Given the description of an element on the screen output the (x, y) to click on. 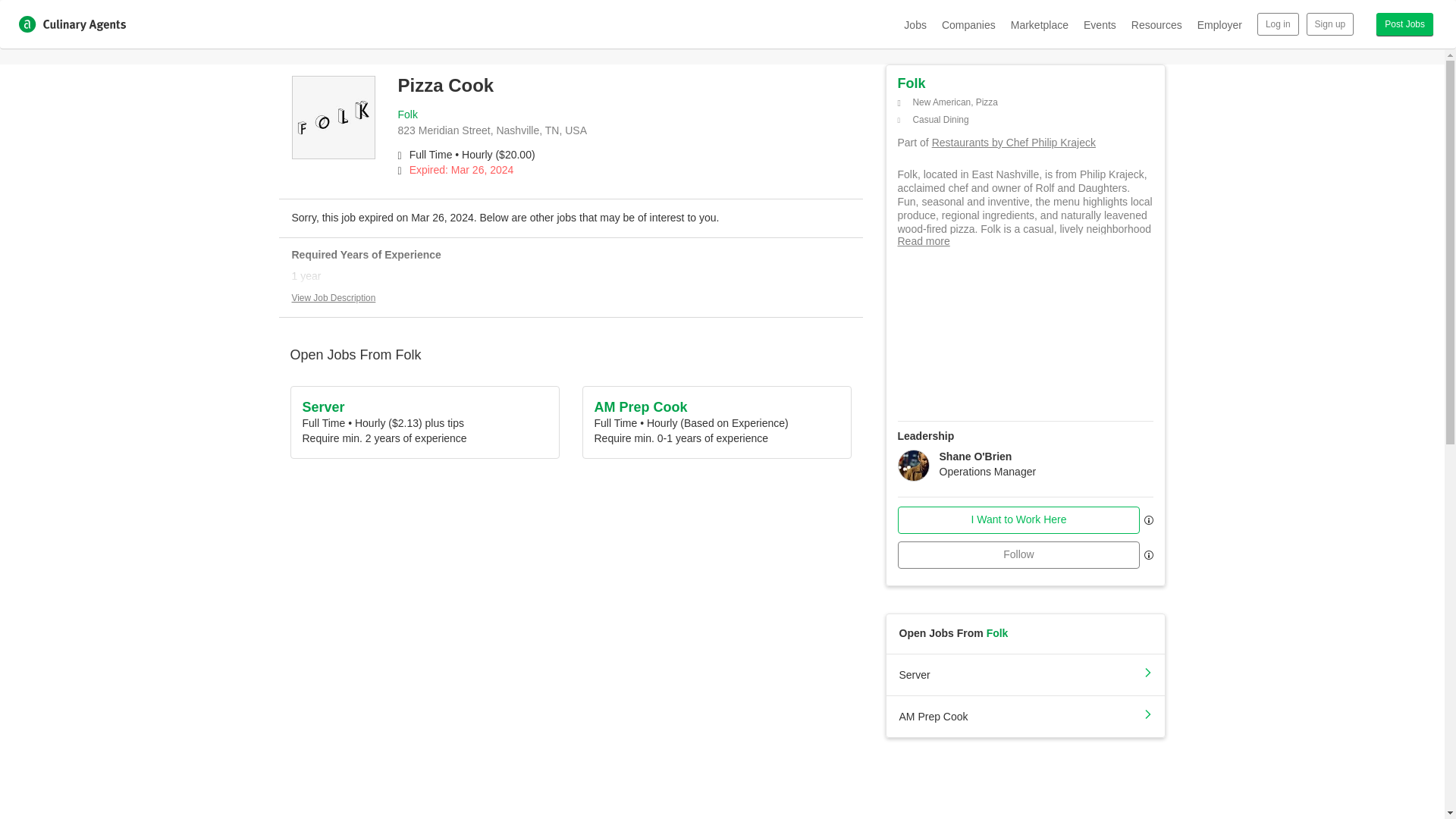
Resources (1156, 24)
Employer (1218, 24)
Folk (912, 83)
Post Jobs (1403, 24)
I Want to Work Here (1019, 519)
Log in (1277, 24)
AM Prep Cook (640, 406)
Companies (968, 24)
AM Prep Cook (1024, 715)
Marketplace (1039, 24)
